Given the description of an element on the screen output the (x, y) to click on. 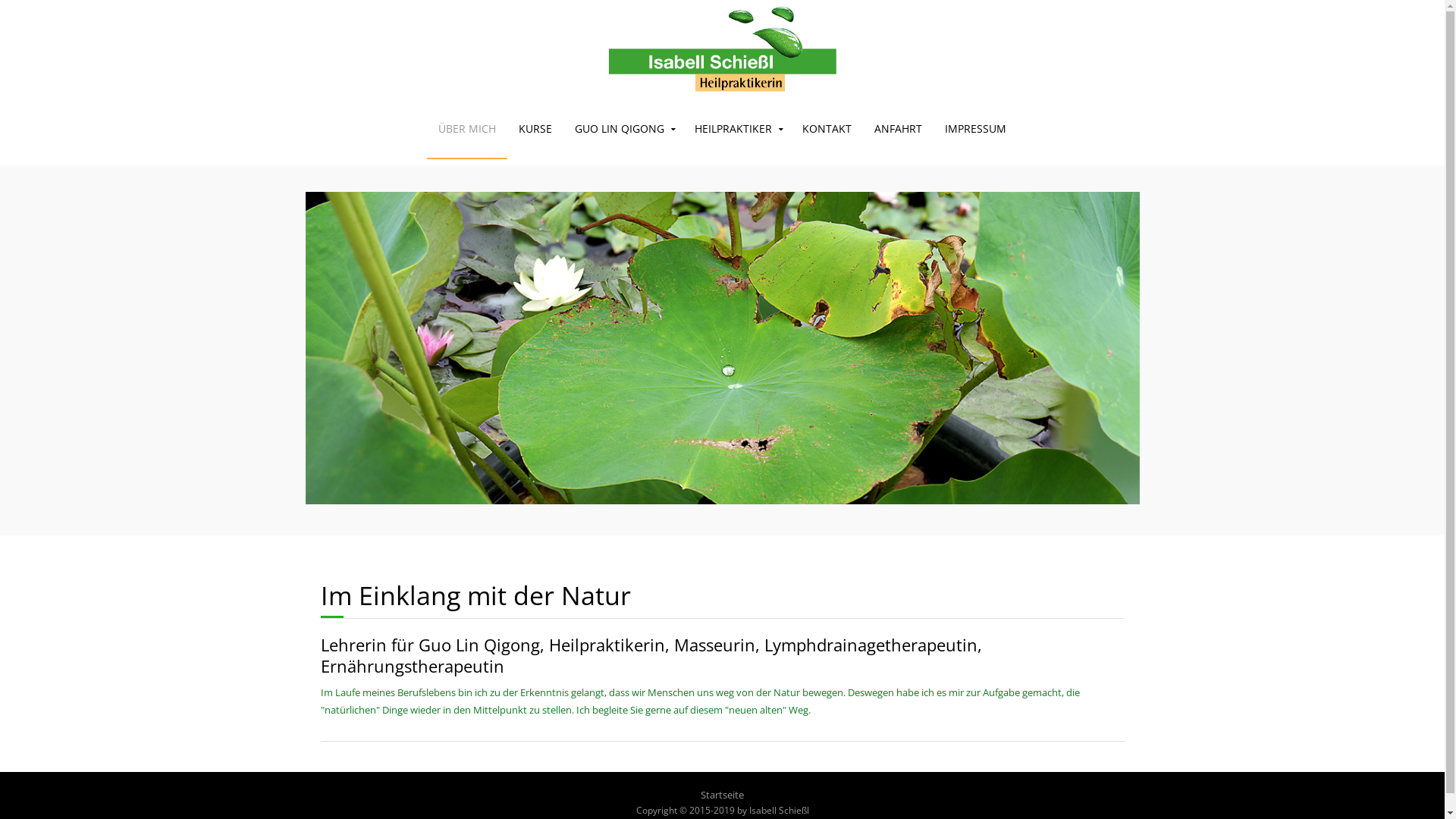
Im Einklang mit der Natur Element type: text (475, 594)
KONTAKT Element type: text (826, 128)
IMPRESSUM Element type: text (975, 128)
GUO LIN QIGONG Element type: text (623, 128)
ANFAHRT Element type: text (897, 128)
HEILPRAKTIKER Element type: text (736, 128)
KURSE Element type: text (535, 128)
